Given the description of an element on the screen output the (x, y) to click on. 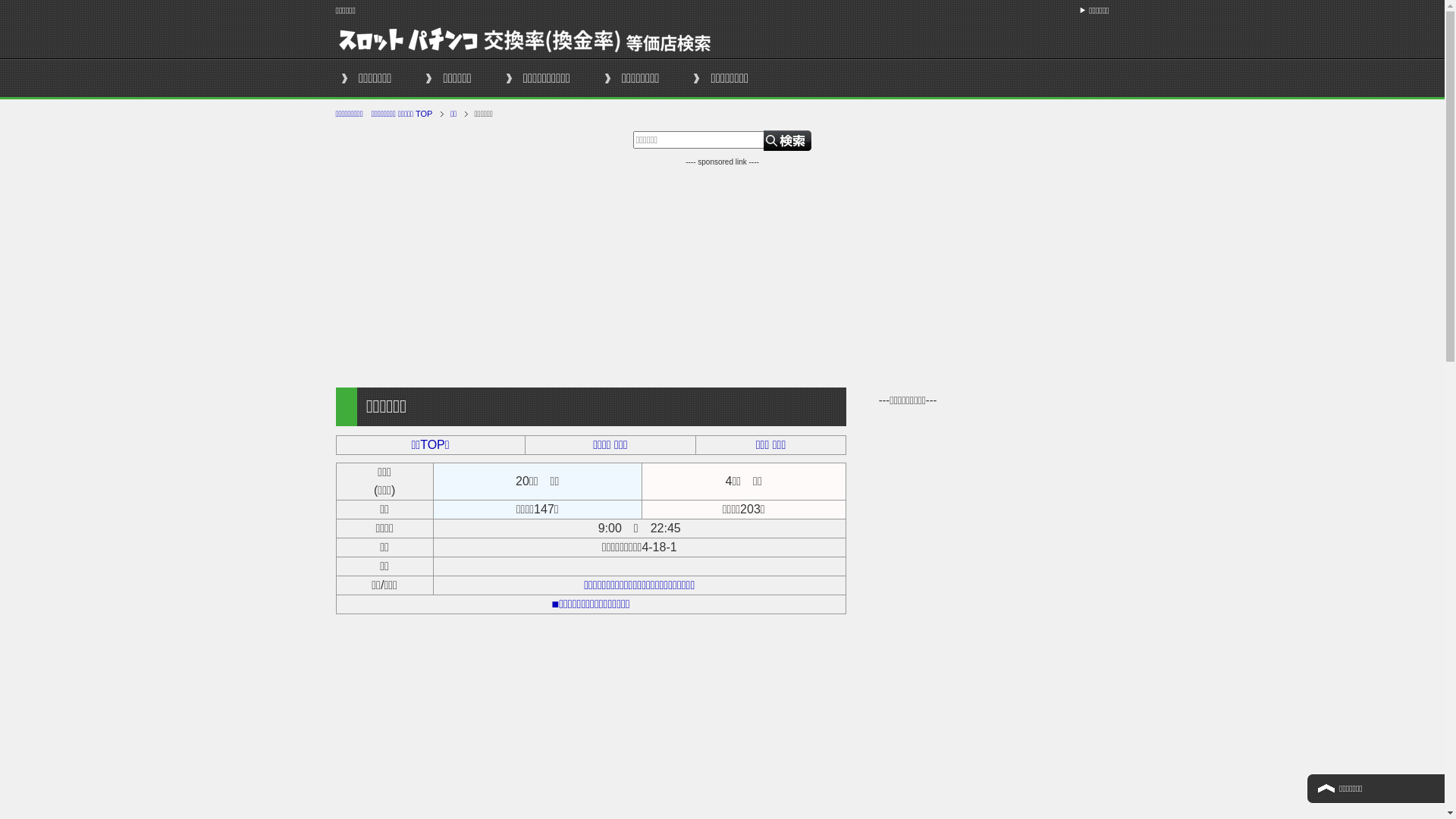
Advertisement Element type: hover (721, 273)
